Given the description of an element on the screen output the (x, y) to click on. 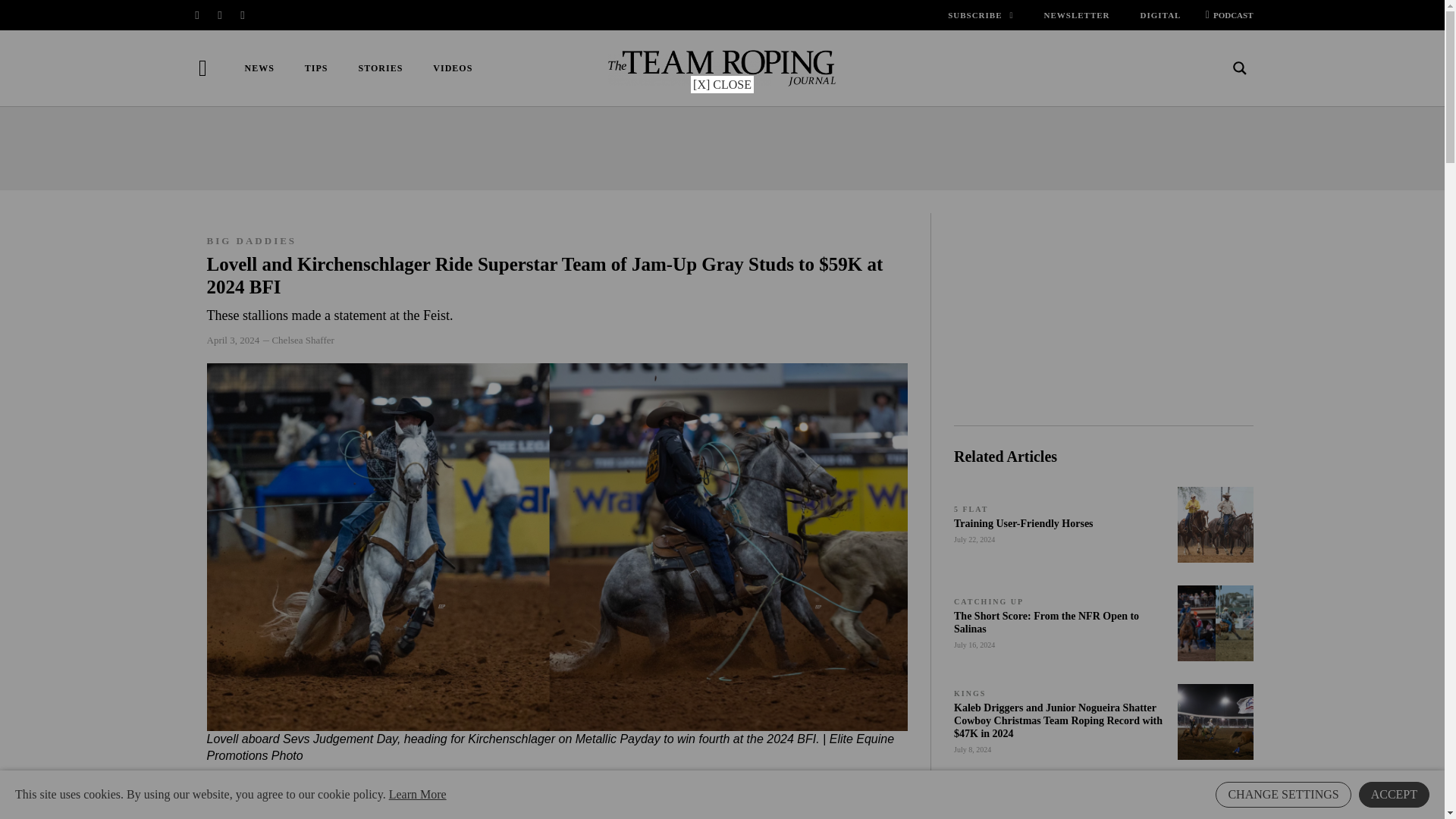
SUBSCRIBE (980, 14)
PODCAST (1223, 15)
Training User-Friendly Horses (1023, 523)
3rd party ad content (1103, 307)
Training User-Friendly Horses (1215, 524)
NEWSLETTER (1076, 14)
DIGITAL (1160, 14)
3rd party ad content (721, 148)
The Short Score: From the NFR Open to Salinas (1045, 621)
The Short Score: From the NFR Open to Salinas (1215, 622)
